Given the description of an element on the screen output the (x, y) to click on. 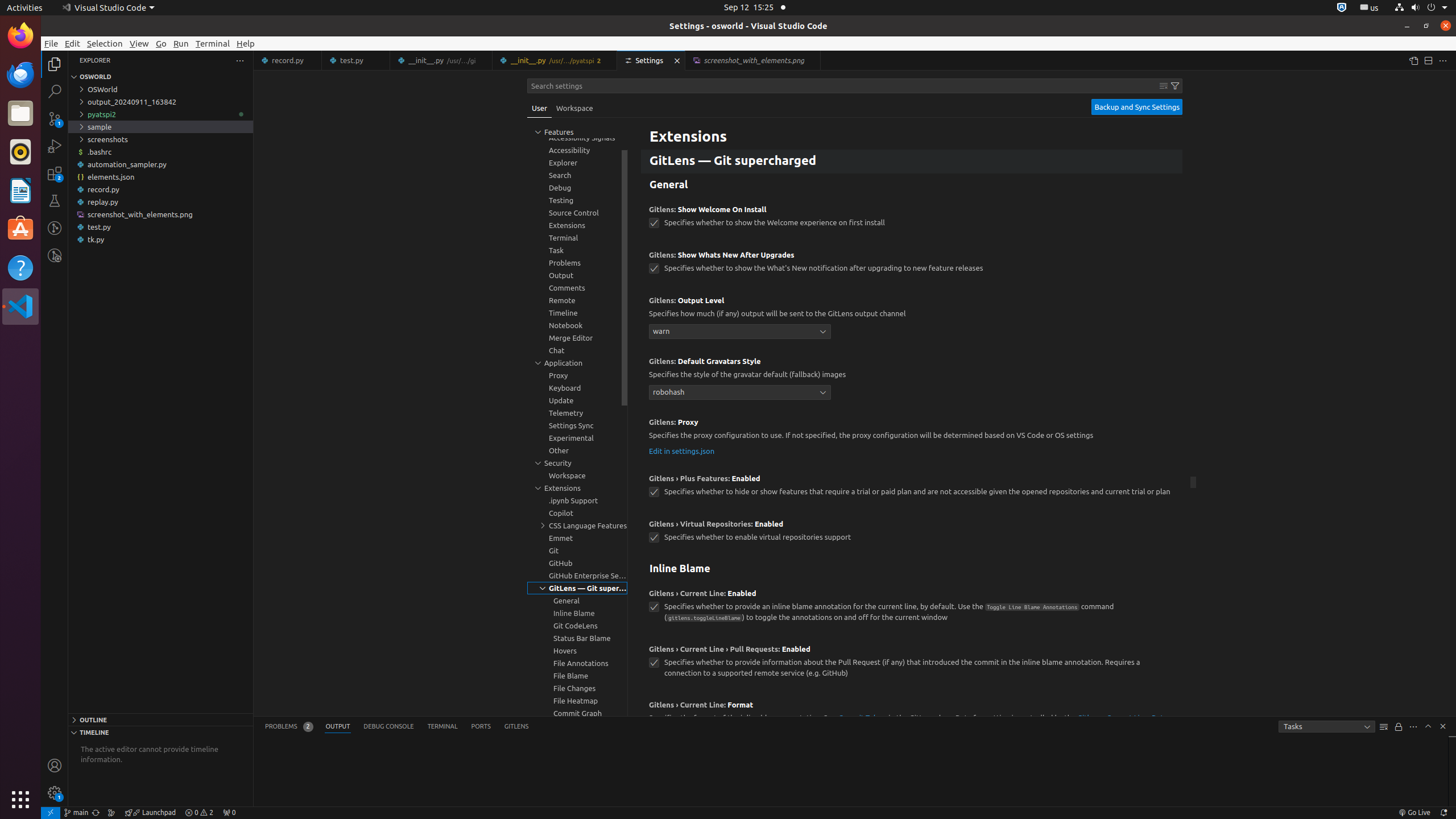
gitlens.showWelcomeOnInstall Element type: check-box (653, 222)
Experimental, group Element type: tree-item (577, 437)
Filter Settings Element type: push-button (1174, 85)
Run Element type: push-button (181, 43)
